Given the description of an element on the screen output the (x, y) to click on. 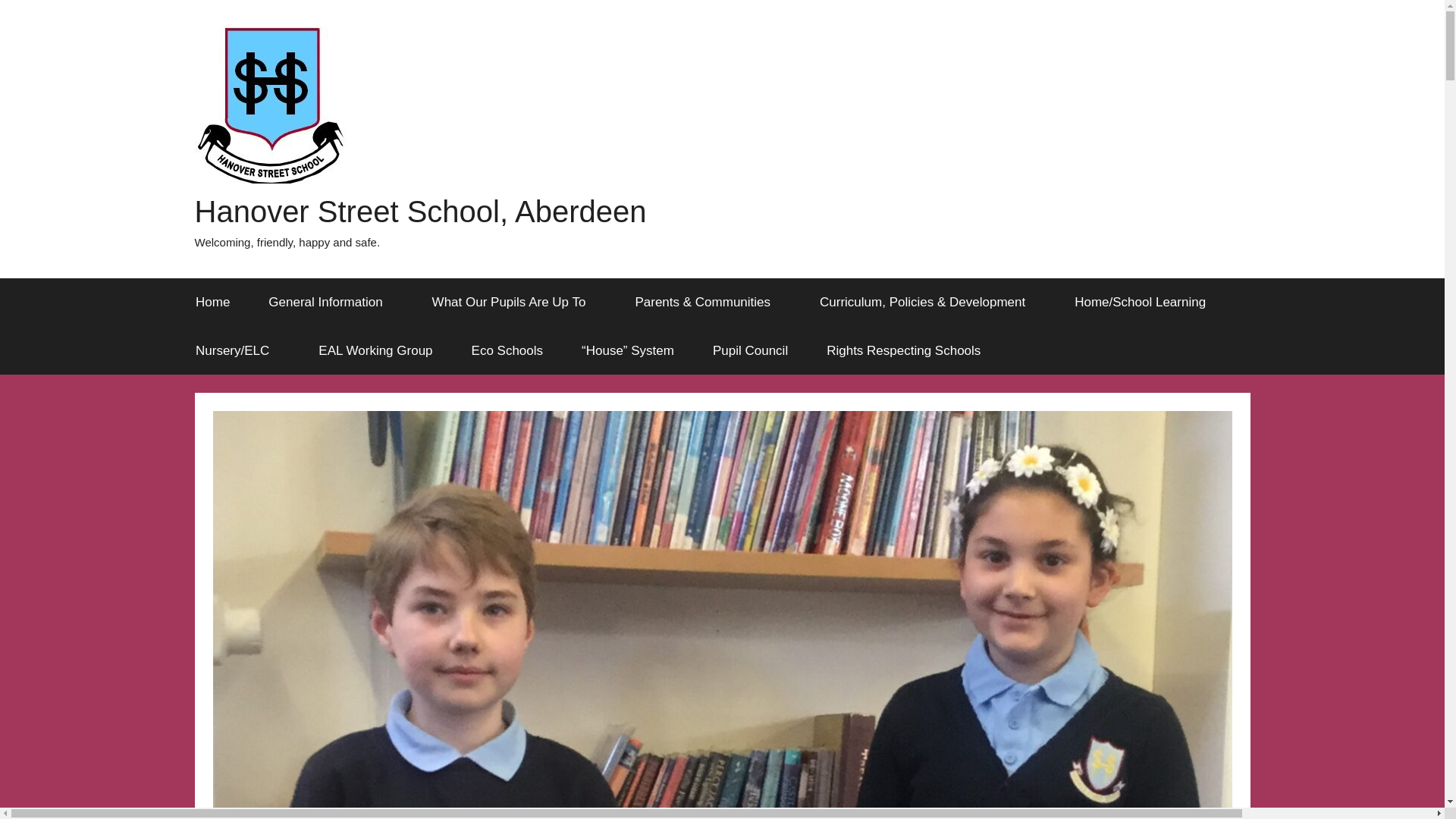
Hanover Street School, Aberdeen (419, 210)
General Information (330, 302)
What Our Pupils Are Up To (513, 302)
Home (212, 302)
